Given the description of an element on the screen output the (x, y) to click on. 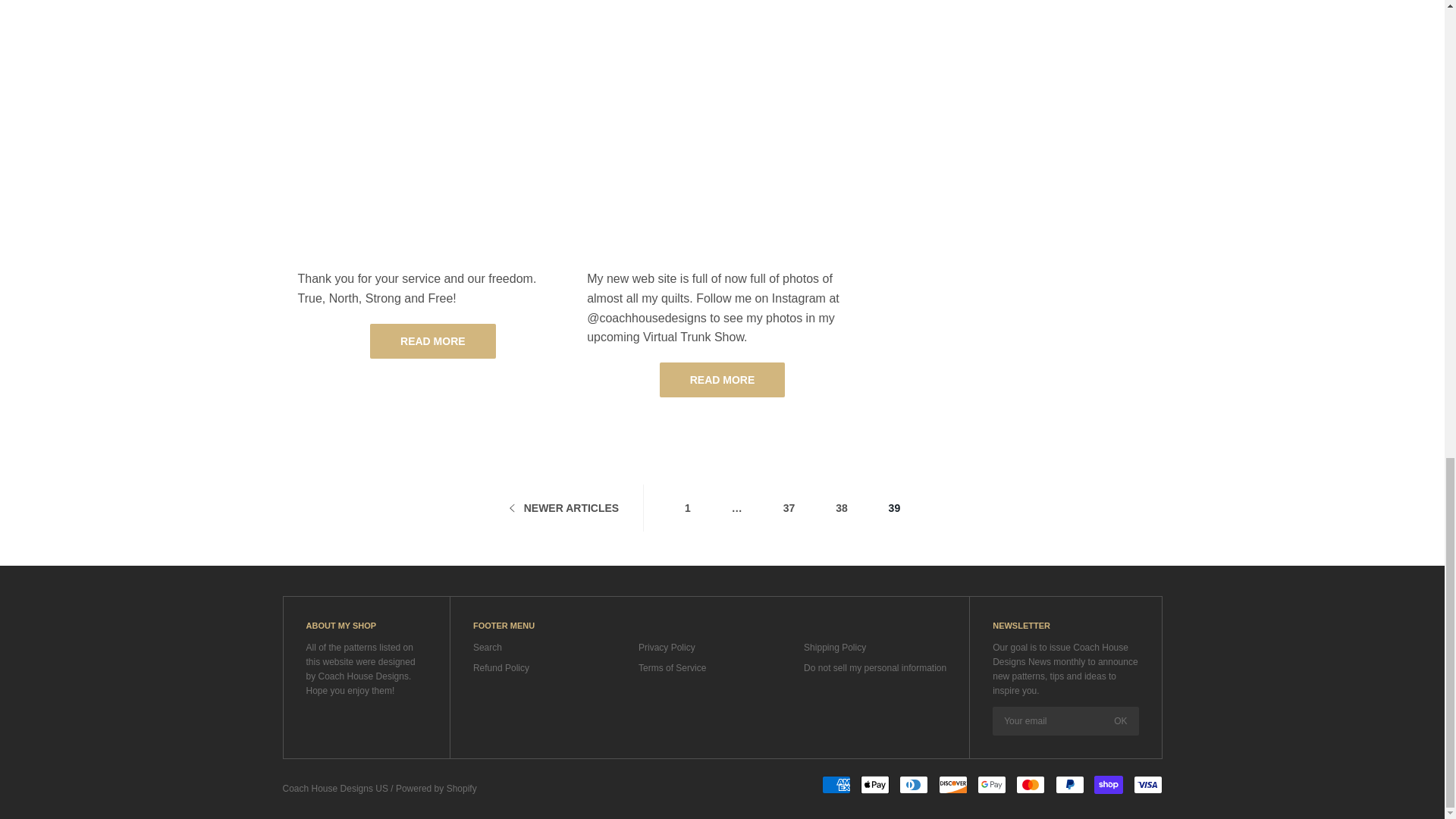
Discover (953, 784)
Apple Pay (874, 784)
American Express (836, 784)
OK (1120, 720)
Google Pay (991, 784)
Visa (1146, 784)
Shop Pay (1108, 784)
Mastercard (1030, 784)
PayPal (1069, 784)
Diners Club (913, 784)
